Given the description of an element on the screen output the (x, y) to click on. 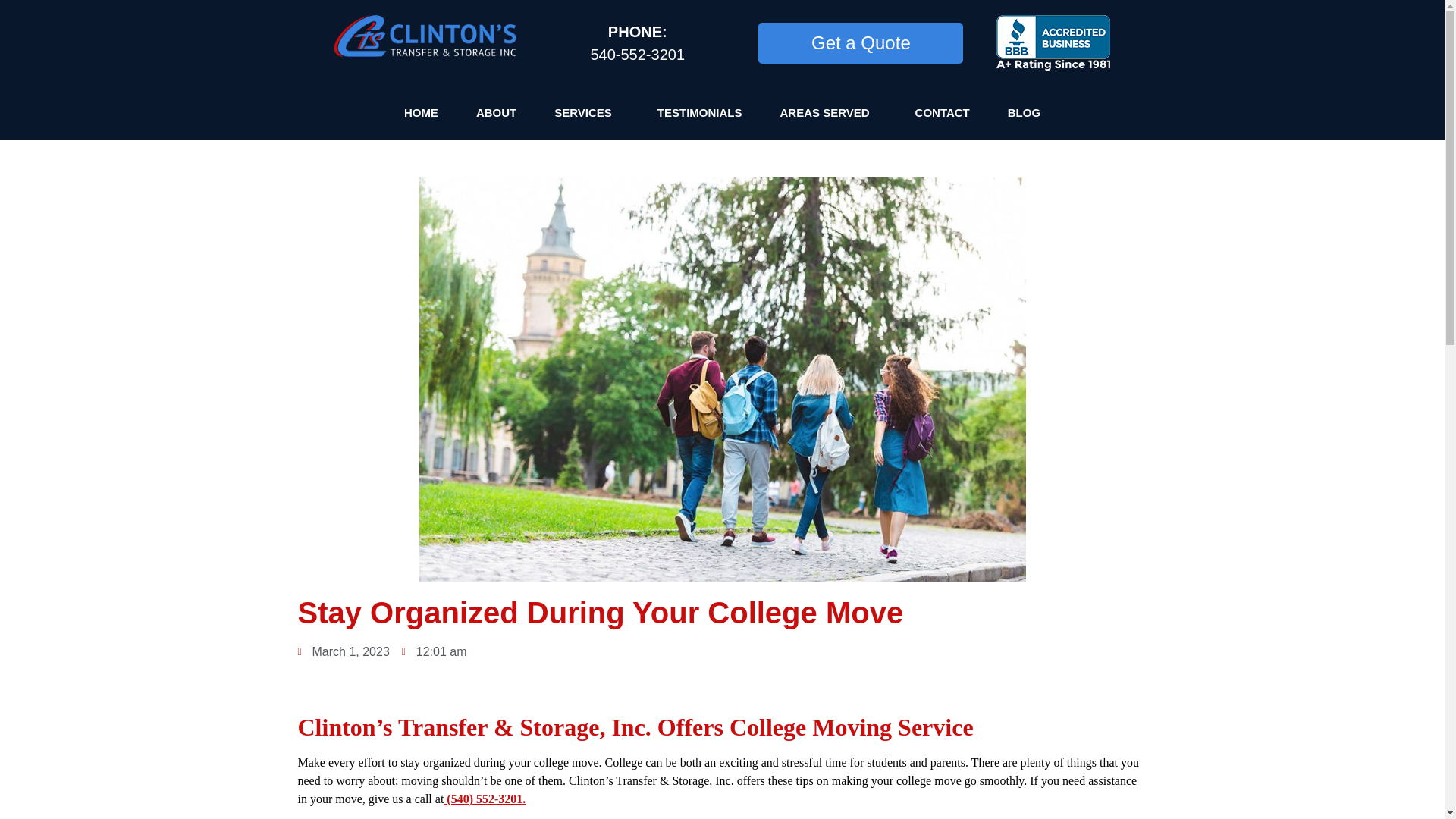
HOME (420, 112)
CONTACT (942, 112)
BLOG (1023, 112)
ABOUT (496, 112)
AREAS SERVED (827, 112)
Get a Quote (860, 42)
TESTIMONIALS (699, 112)
540-552-3201 (636, 54)
SERVICES (586, 112)
